Given the description of an element on the screen output the (x, y) to click on. 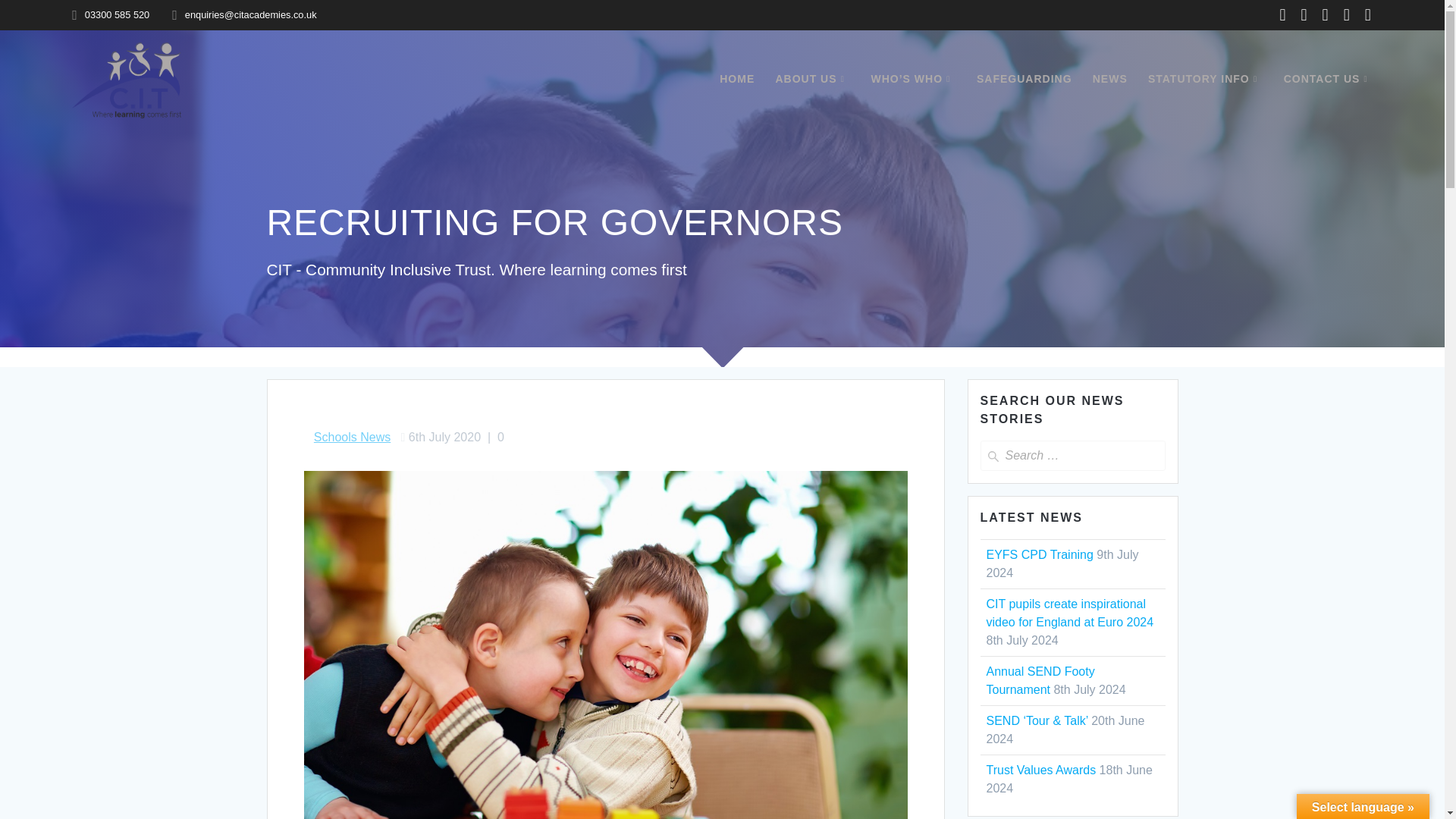
NEWS (1109, 79)
SAFEGUARDING (1023, 79)
ABOUT US (812, 79)
CONTACT US (1329, 79)
HOME (736, 79)
STATUTORY INFO (1205, 79)
